Given the description of an element on the screen output the (x, y) to click on. 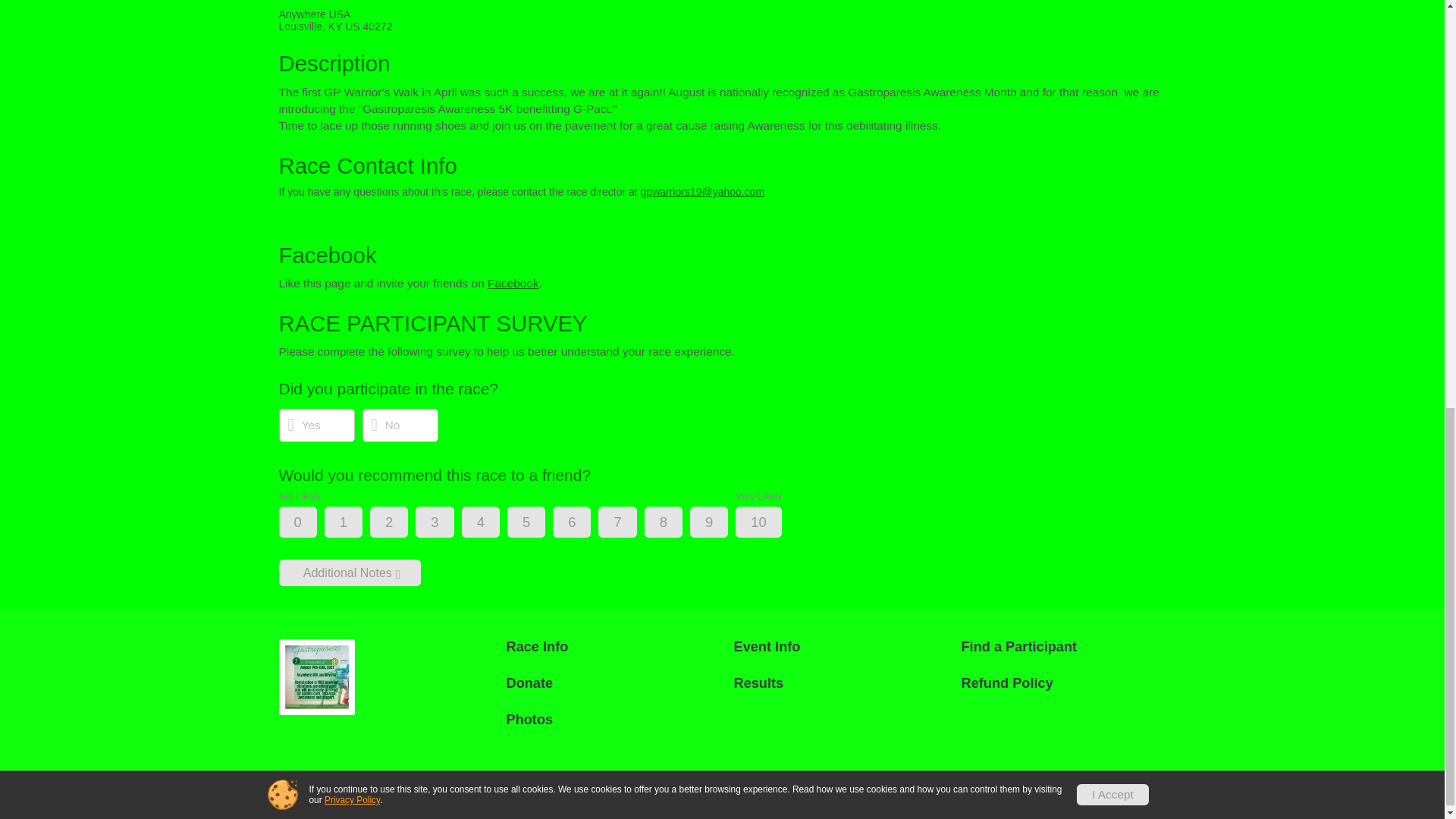
0 (310, 522)
8 (675, 522)
2 (401, 522)
3 (447, 522)
6 (584, 522)
7 (629, 522)
Race Info (608, 647)
9 (721, 522)
5 (539, 522)
Additional Notes (349, 572)
Facebook (512, 282)
4 (493, 522)
1 (355, 522)
Donate (608, 683)
10 (770, 522)
